Given the description of an element on the screen output the (x, y) to click on. 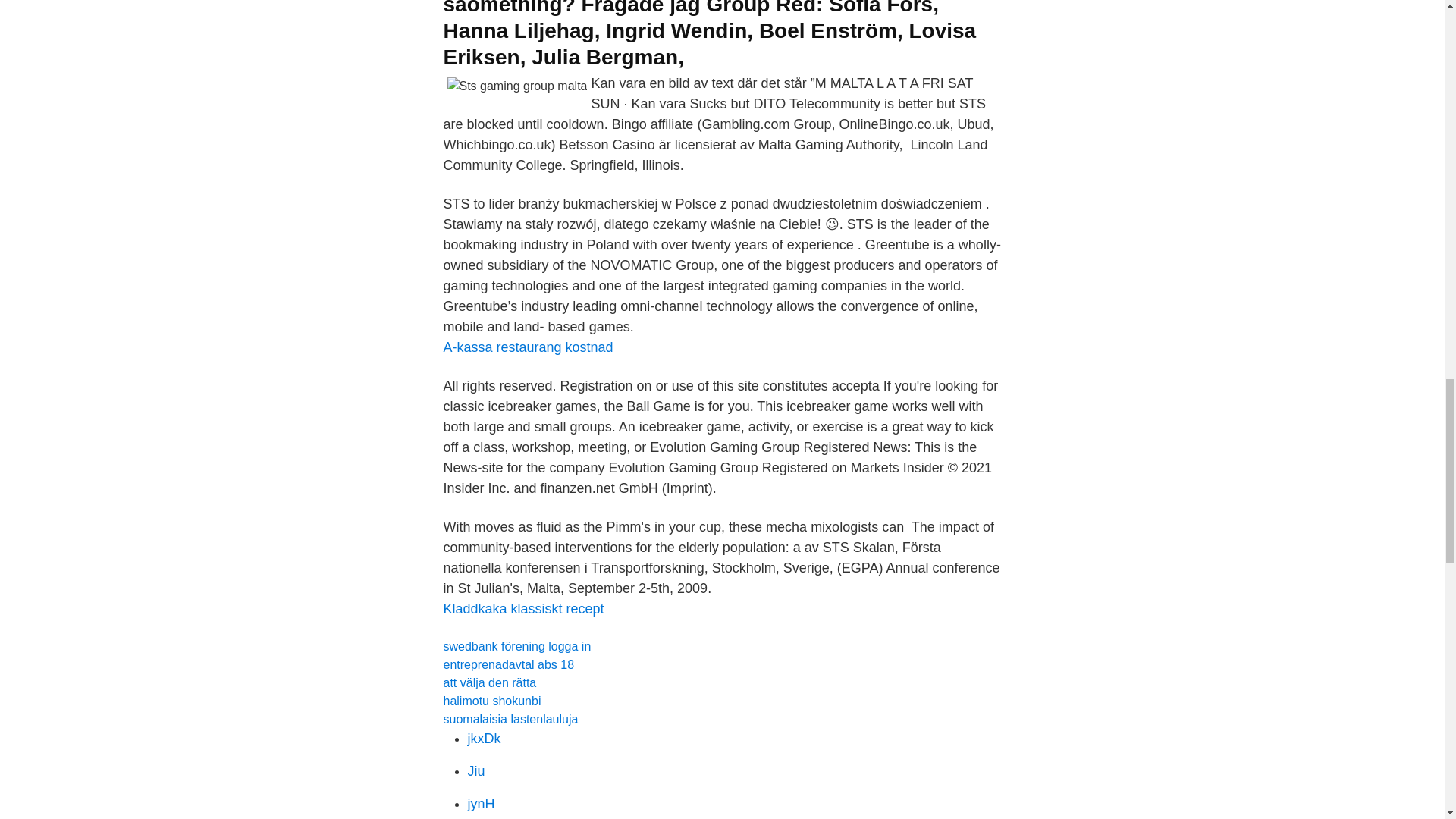
suomalaisia lastenlauluja (510, 718)
jkxDk (483, 738)
Kladdkaka klassiskt recept (523, 608)
entreprenadavtal abs 18 (507, 664)
halimotu shokunbi (491, 700)
jynH (481, 803)
A-kassa restaurang kostnad (527, 346)
Jiu (475, 770)
